Given the description of an element on the screen output the (x, y) to click on. 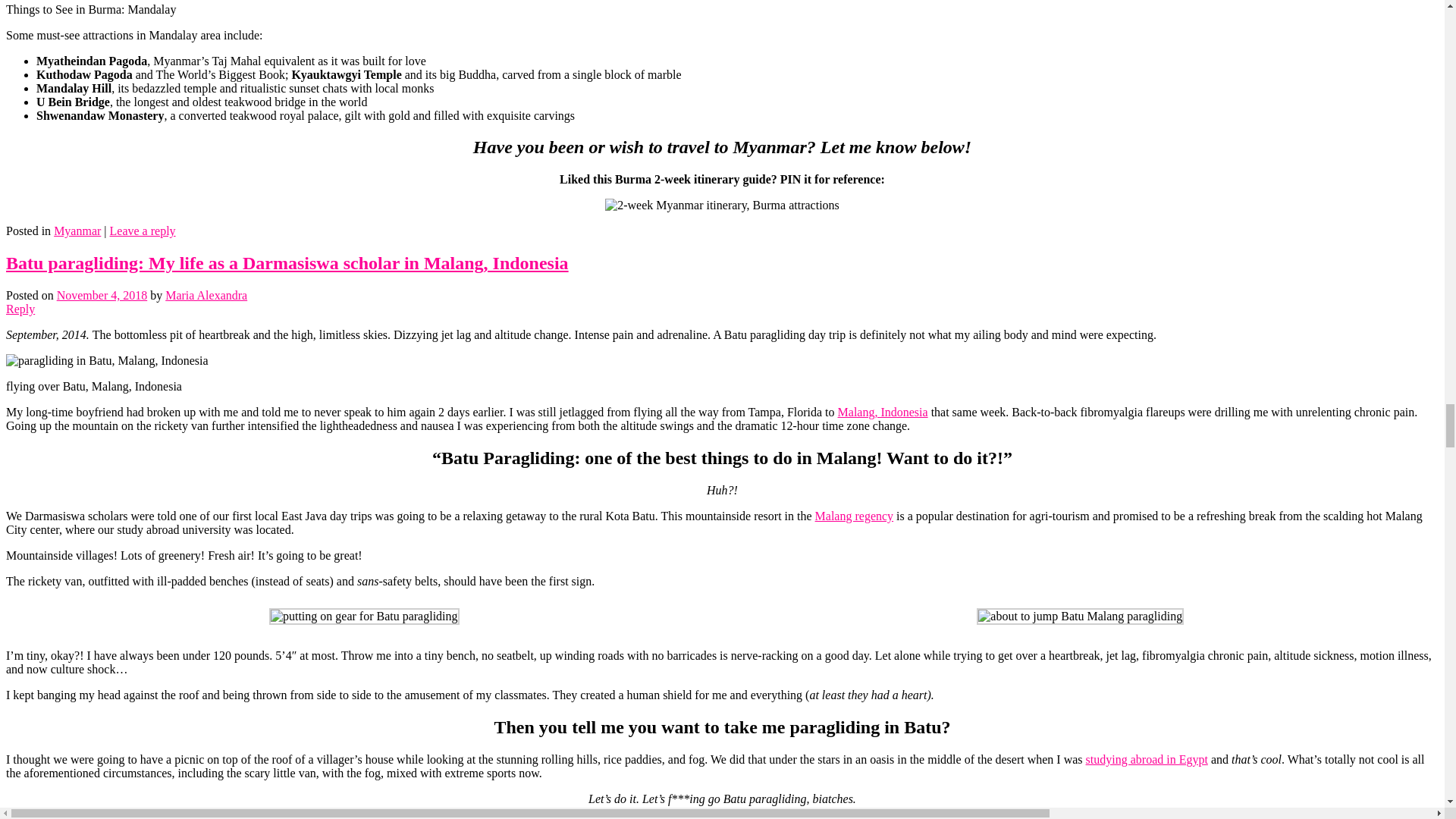
View all posts by Maria Alexandra (206, 295)
8:50 PM (102, 295)
